Given the description of an element on the screen output the (x, y) to click on. 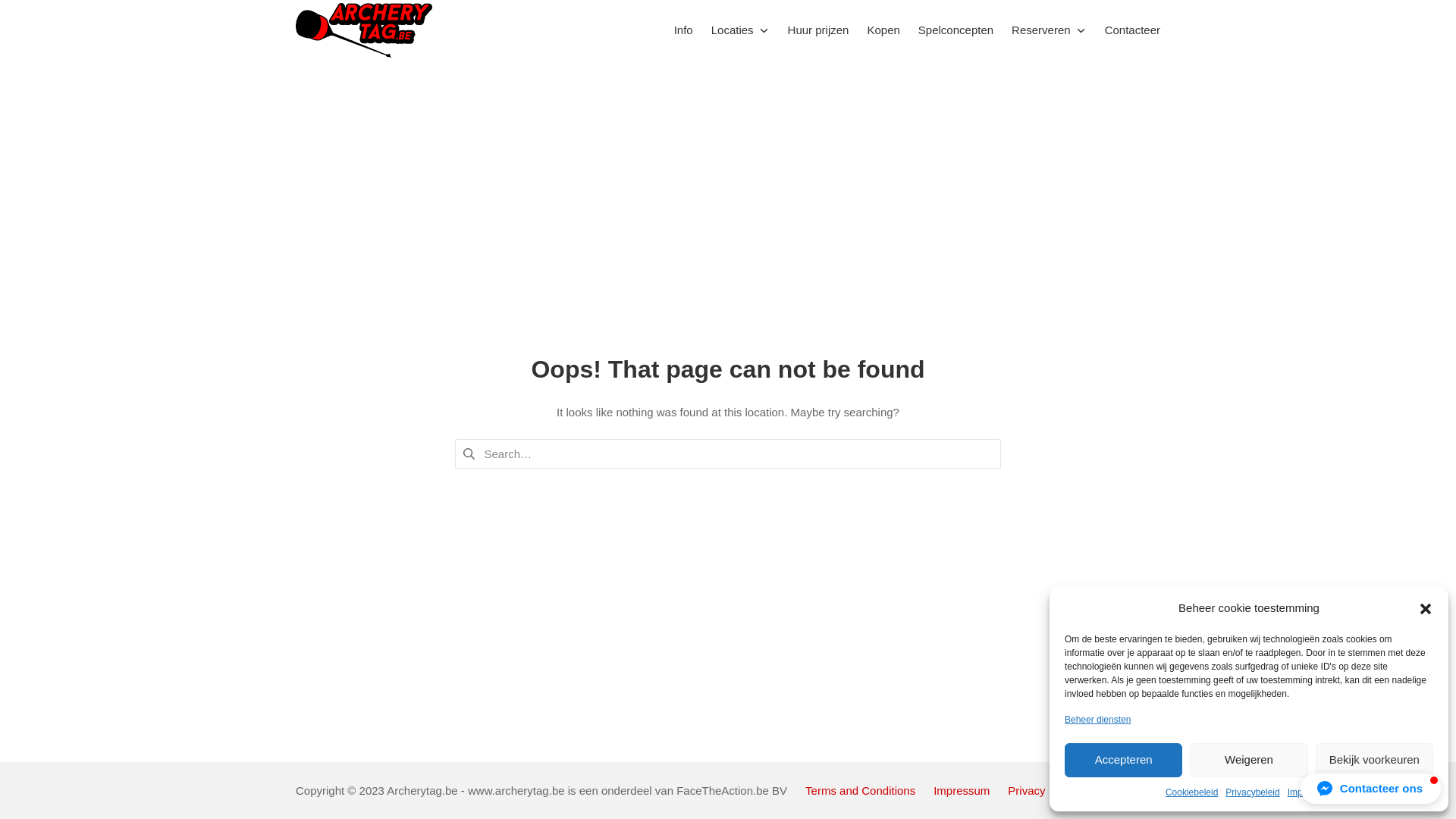
Beheer diensten Element type: text (1097, 719)
Spelconcepten Element type: text (955, 30)
Locaties Element type: text (740, 30)
Privacybeleid Element type: text (1252, 792)
Cookiebeleid Element type: text (1191, 792)
Accepteren Element type: text (1123, 760)
Impressum Element type: text (961, 790)
Cookiebeleid (EU) Element type: text (1143, 790)
Info Element type: text (683, 30)
Terms and Conditions Element type: text (860, 790)
Bekijk voorkeuren Element type: text (1374, 760)
Reserveren Element type: text (1048, 30)
Impressum Element type: text (1309, 792)
Kopen Element type: text (882, 30)
Contacteer Element type: text (1132, 30)
Privacy Policy Element type: text (1042, 790)
Huur prijzen Element type: text (818, 30)
Zoeken Element type: text (36, 14)
Weigeren Element type: text (1248, 760)
